Given the description of an element on the screen output the (x, y) to click on. 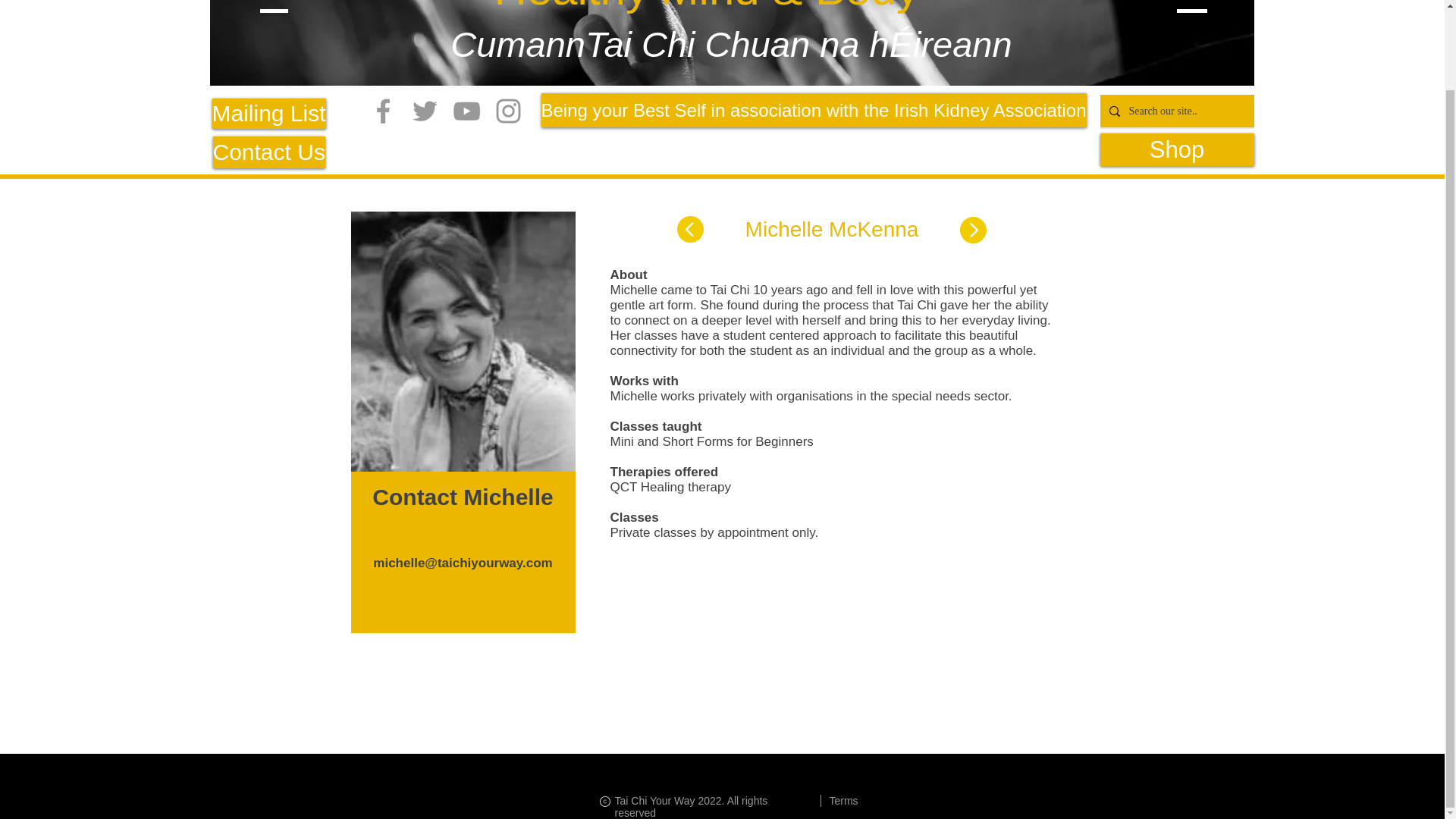
Contact Us (268, 152)
Shop (1176, 149)
Mailing List (269, 113)
Terms (844, 800)
